Given the description of an element on the screen output the (x, y) to click on. 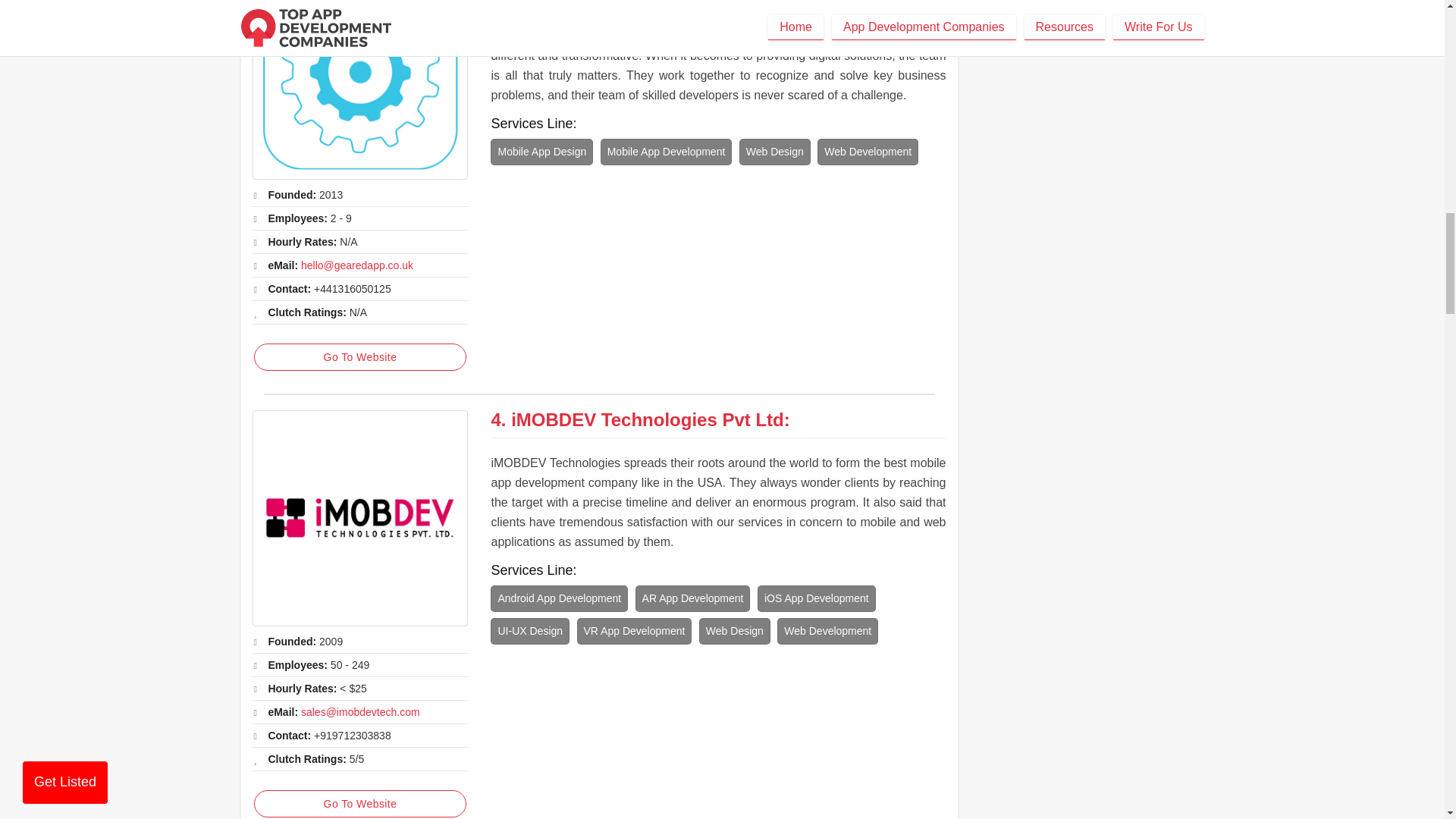
iMOBDEV Technologies Pvt Ltd (359, 518)
iMOBDEV Technologies Pvt Ltd (647, 419)
Go To Website (359, 357)
GearedApp Ltd (359, 89)
Go To Website (359, 803)
